Given the description of an element on the screen output the (x, y) to click on. 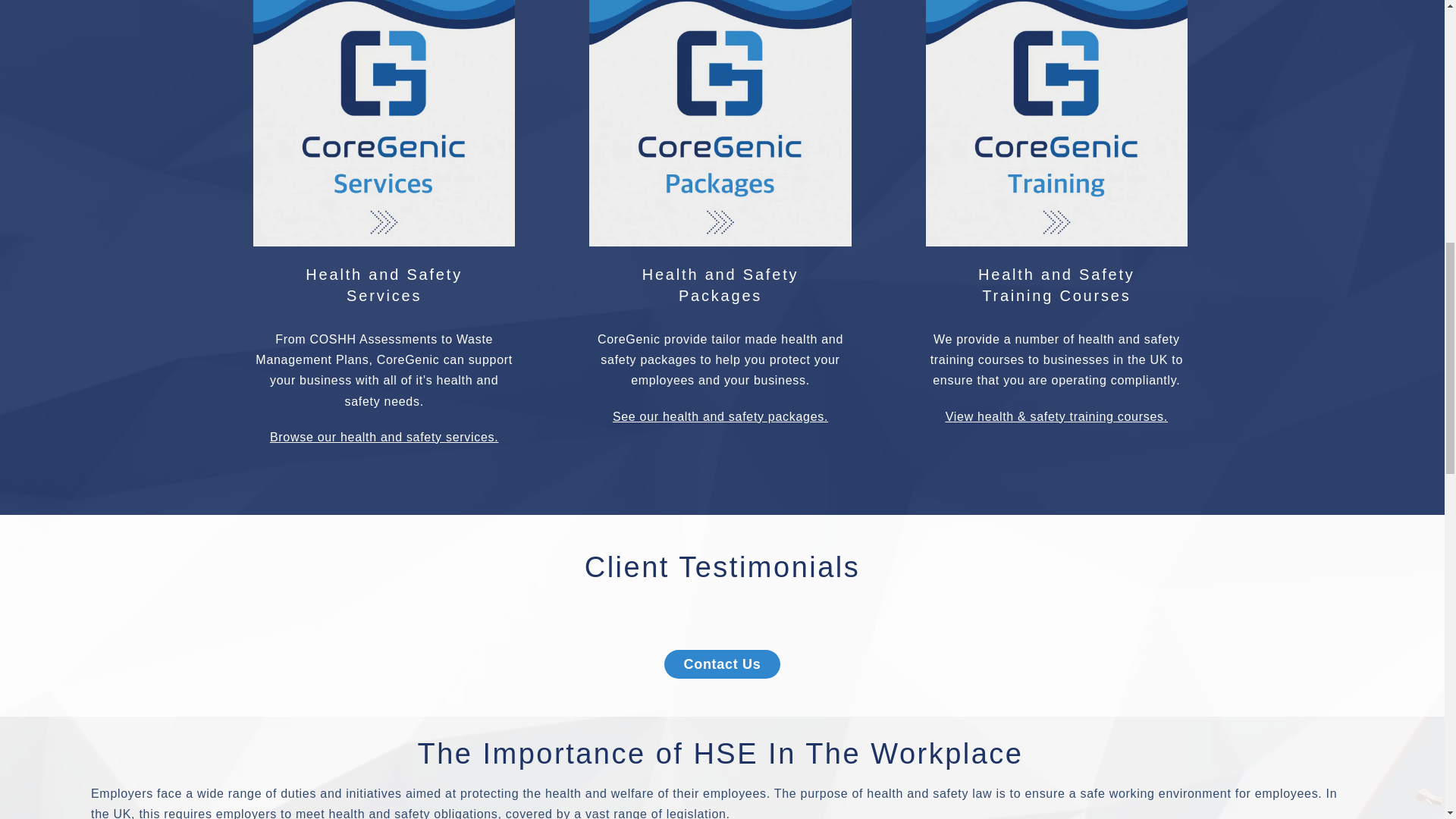
See our health and safety packages. (384, 284)
Browse our health and safety services. (720, 284)
